Given the description of an element on the screen output the (x, y) to click on. 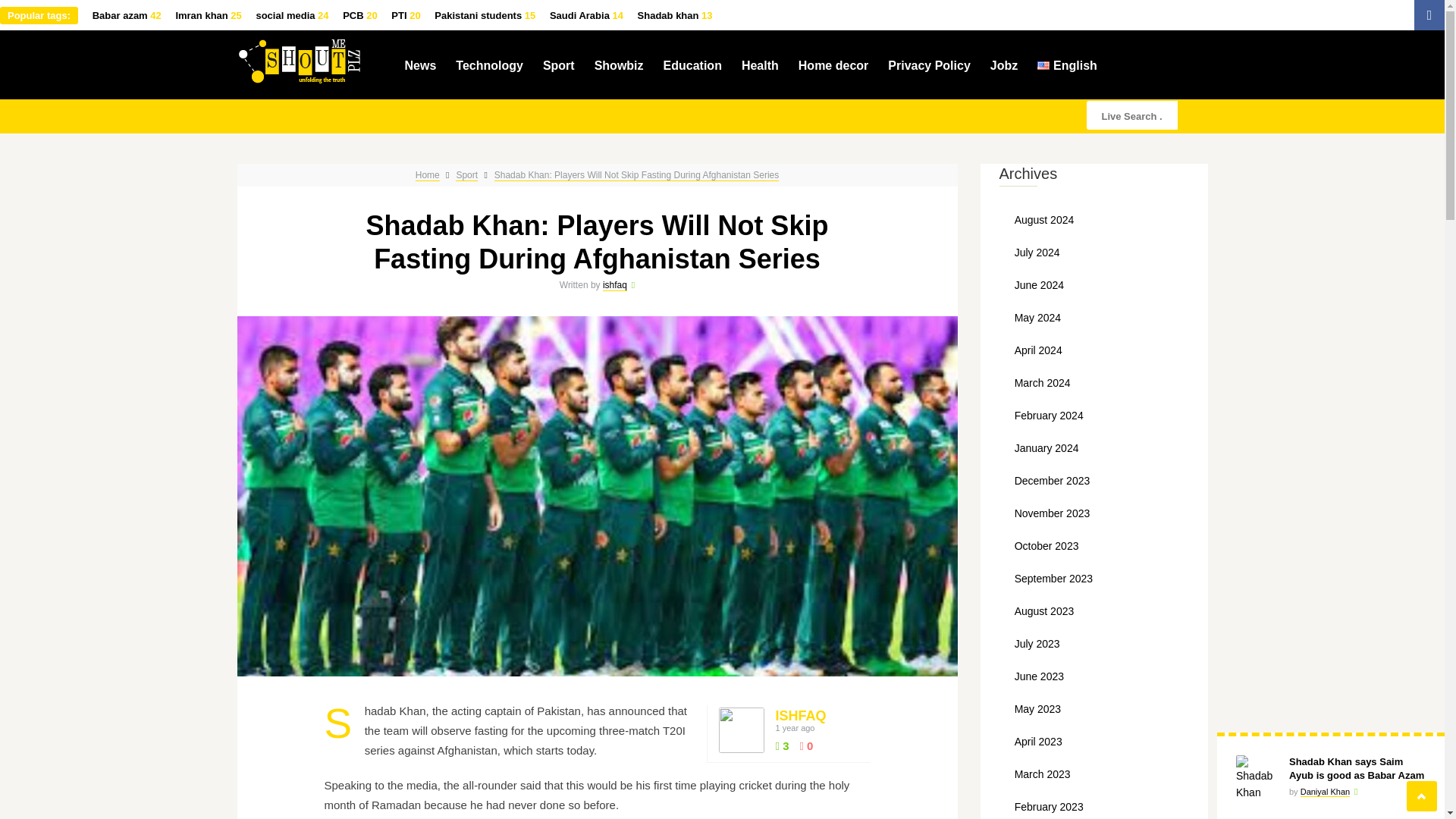
Technology (489, 64)
Sport (558, 64)
Pakistani students 15 (484, 15)
Jobz (1003, 64)
Posts by ishfaq (614, 285)
View all posts in Sport (466, 174)
Education (693, 64)
Imran khan 25 (207, 15)
News (420, 64)
PTI 20 (405, 15)
Showbiz (618, 64)
PCB 20 (359, 15)
Saudi Arabia 14 (586, 15)
Shadab khan 13 (675, 15)
Posts by ishfaq (799, 715)
